Given the description of an element on the screen output the (x, y) to click on. 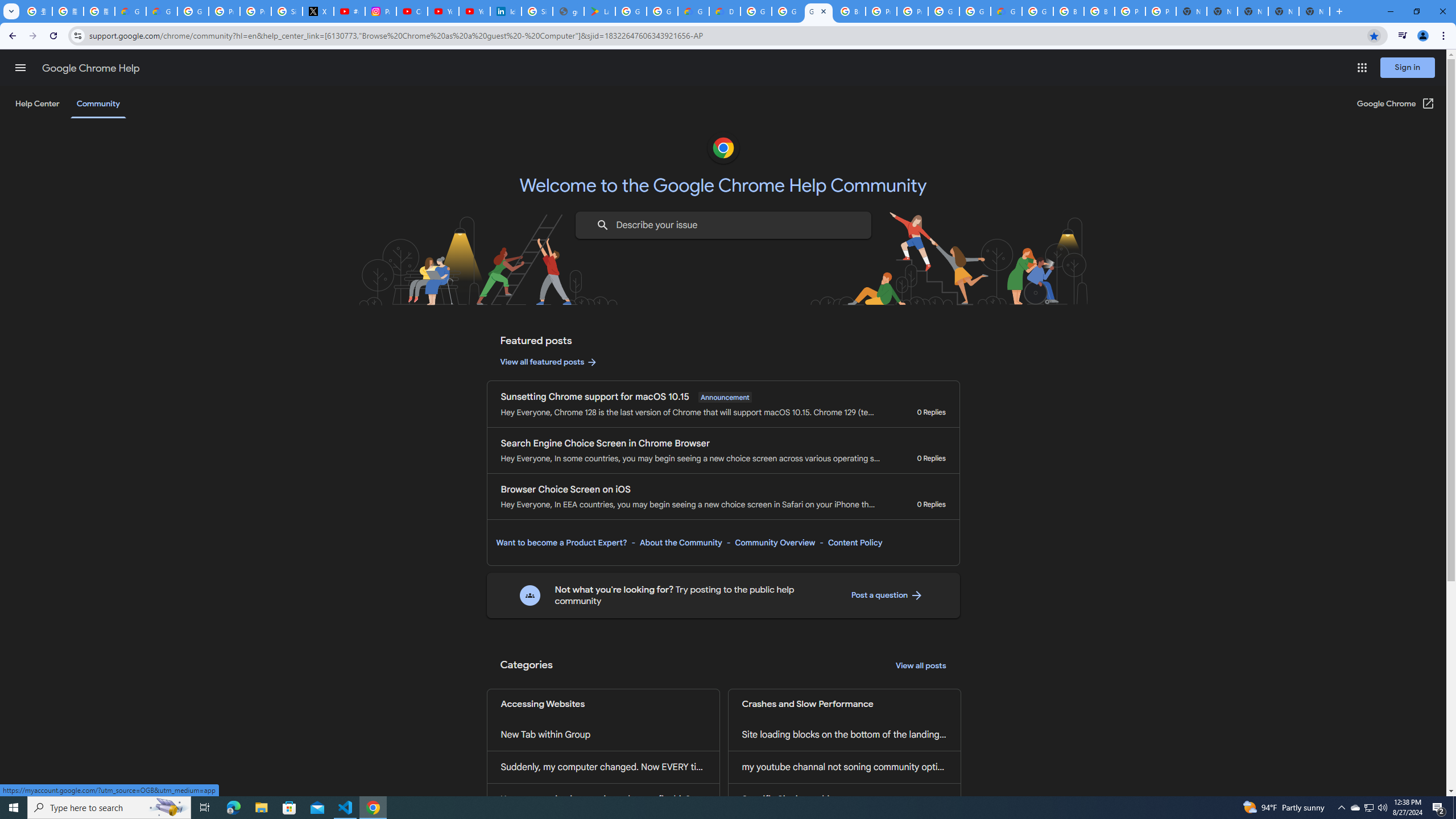
Privacy Help Center - Policies Help (255, 11)
Google Cloud Platform (943, 11)
Google Chrome (Open in a new window) (1395, 103)
Google Cloud Privacy Notice (161, 11)
Control your music, videos, and more (1402, 35)
google_privacy_policy_en.pdf (568, 11)
About the Community (680, 542)
